Given the description of an element on the screen output the (x, y) to click on. 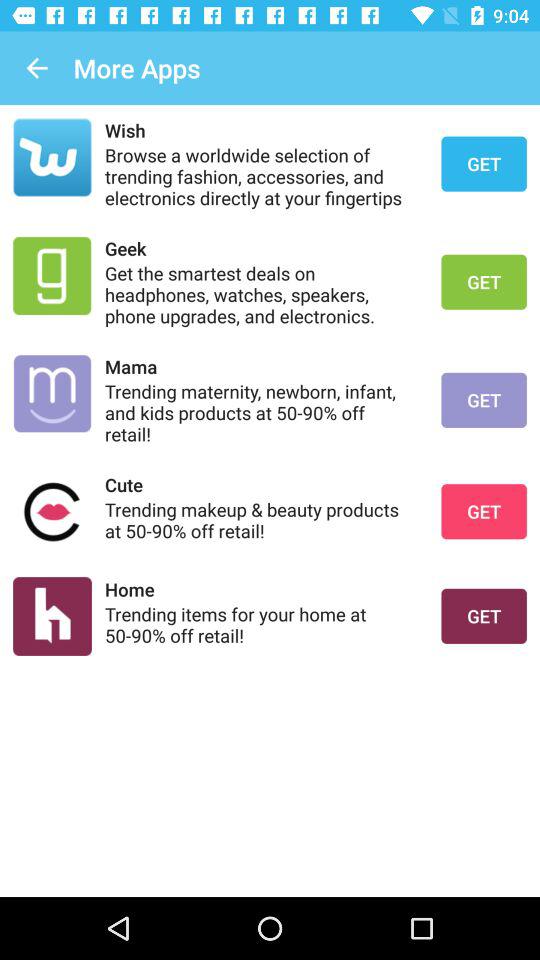
launch item to the left of get icon (260, 520)
